Given the description of an element on the screen output the (x, y) to click on. 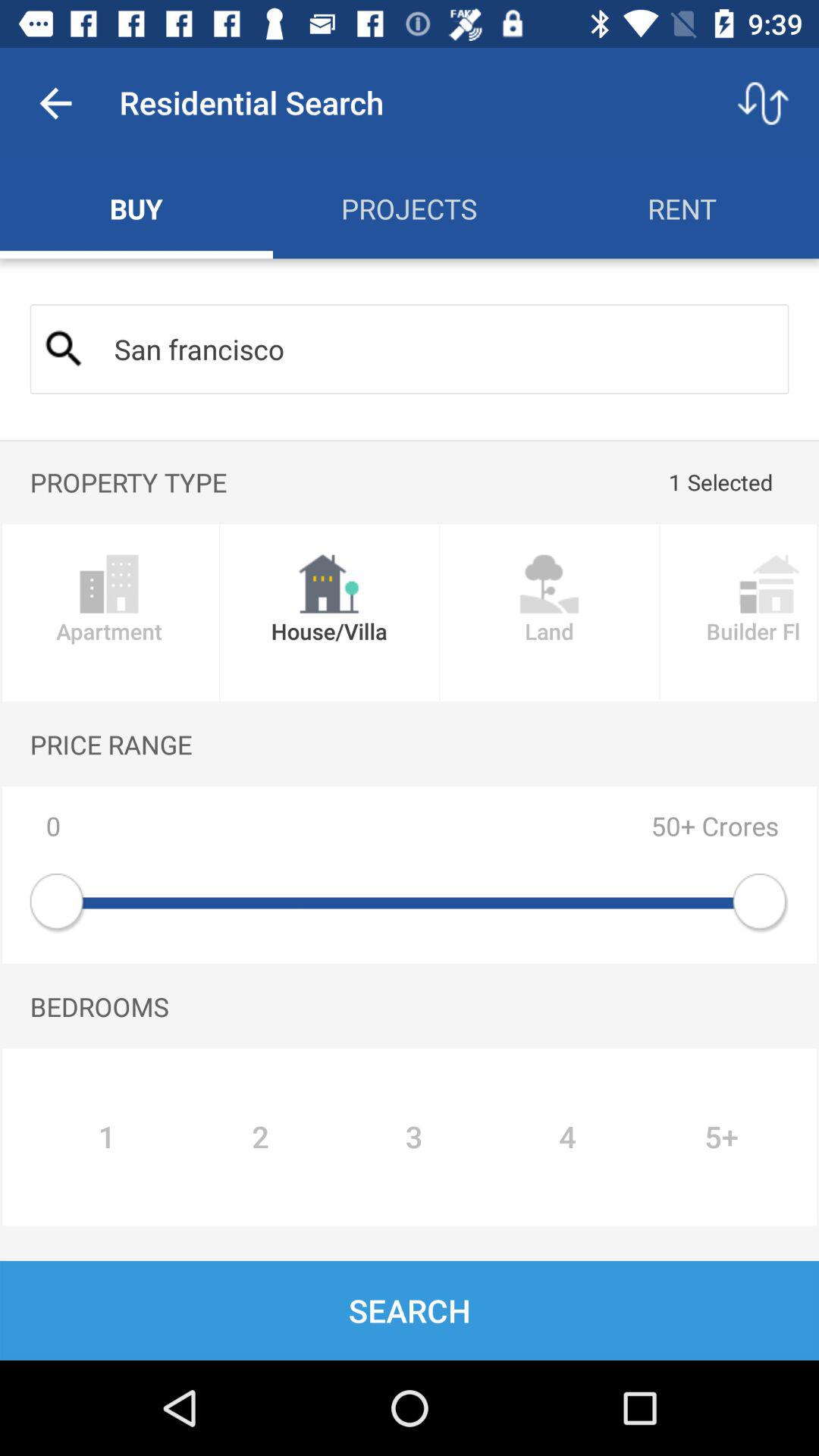
click on 2 below bed rooms (260, 1137)
select the image land (549, 612)
click on the button which is next to the 4 (722, 1137)
select the numeric three which is above search option (413, 1137)
